Given the description of an element on the screen output the (x, y) to click on. 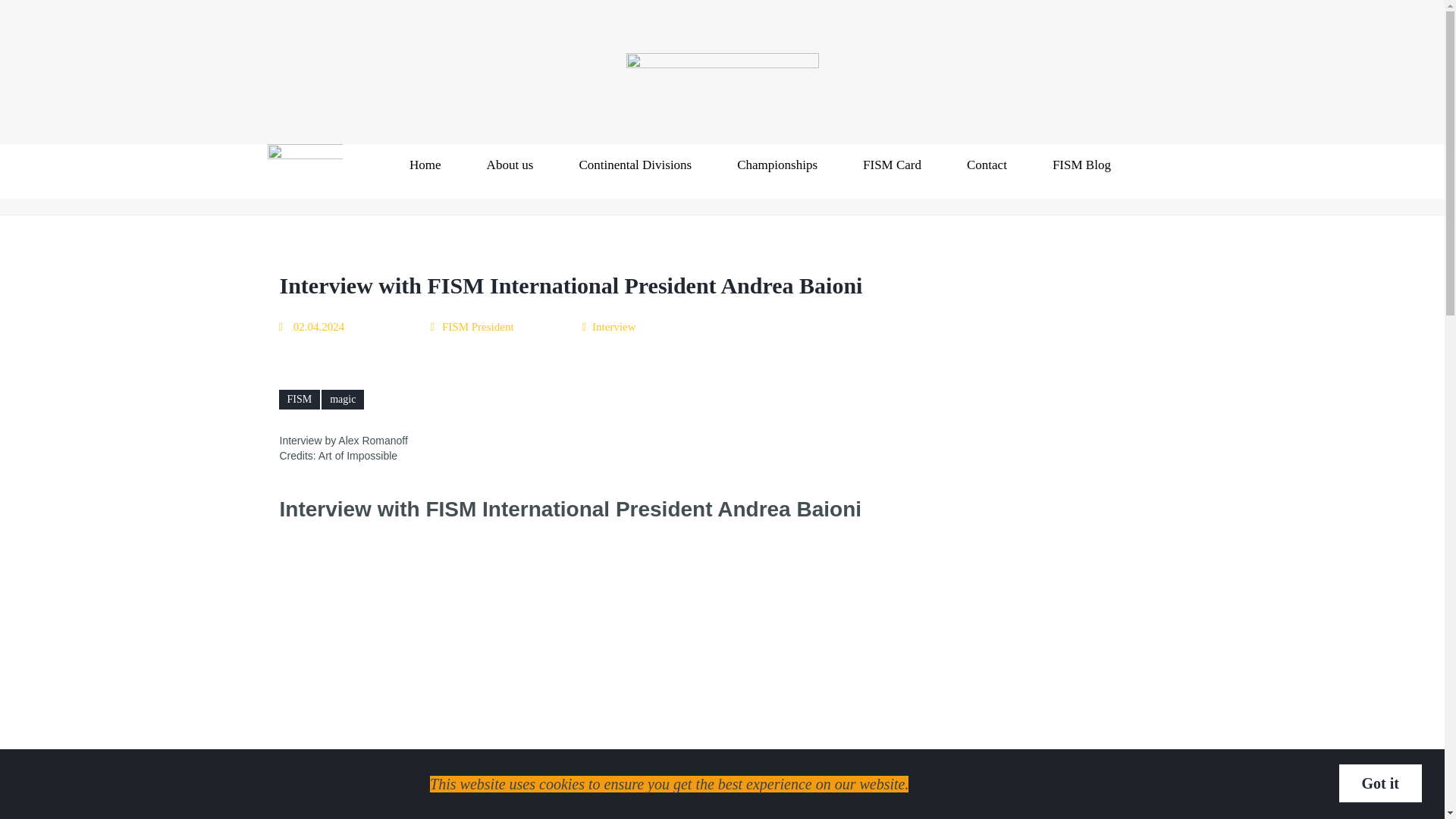
FISM Blog (1081, 166)
Continental Divisions (635, 166)
Championships (777, 166)
Got it (1380, 783)
FISM Card (891, 166)
About us (510, 166)
Contact (986, 166)
FISM (299, 399)
magic (342, 399)
Interview (609, 326)
Home (425, 166)
